Given the description of an element on the screen output the (x, y) to click on. 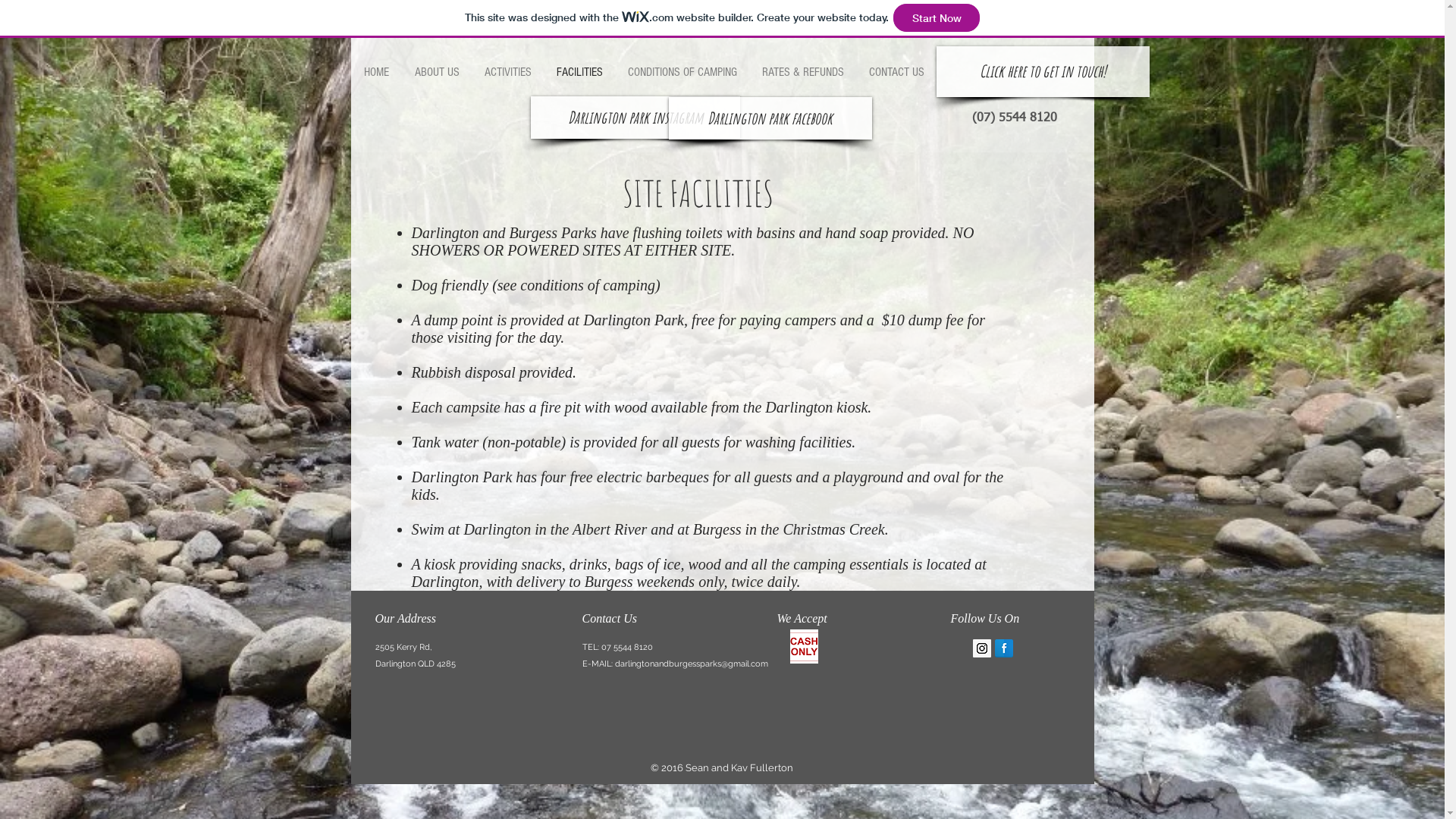
ACTIVITIES Element type: text (507, 72)
CONTACT US Element type: text (895, 72)
Darlington park facebook Element type: text (770, 118)
RATES & REFUNDS Element type: text (802, 72)
CONDITIONS OF CAMPING Element type: text (681, 72)
HOME Element type: text (376, 72)
darlingtonandburgessparks@gmail.com Element type: text (690, 663)
Click here to get in touch! Element type: text (1041, 71)
FACILITIES Element type: text (578, 72)
ABOUT US Element type: text (436, 72)
Darlington park instagram Element type: text (635, 117)
